Given the description of an element on the screen output the (x, y) to click on. 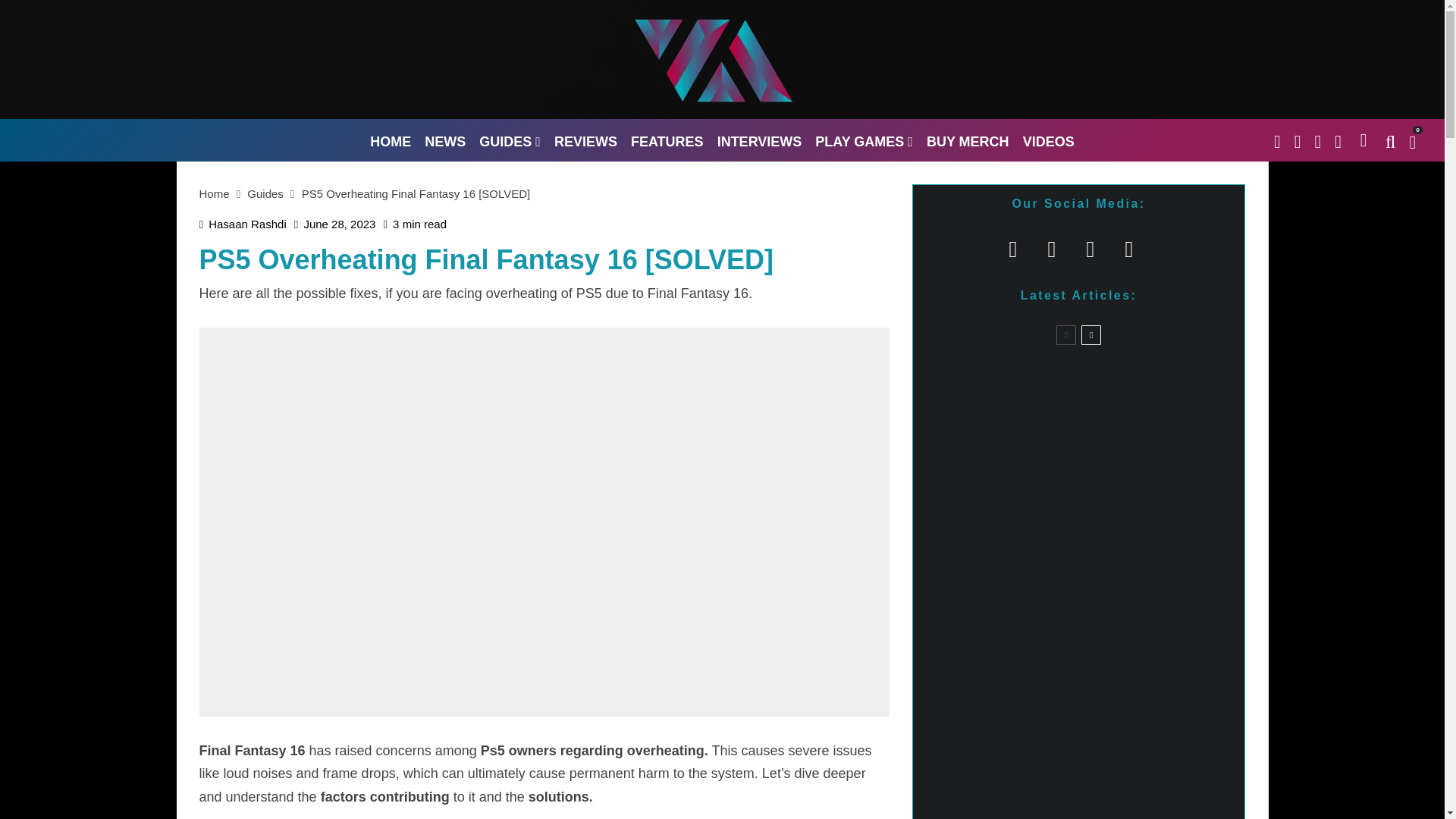
HOME (389, 139)
INTERVIEWS (759, 139)
FEATURES (667, 139)
PLAY GAMES (864, 139)
GUIDES (509, 139)
REVIEWS (585, 139)
NEWS (444, 139)
